Given the description of an element on the screen output the (x, y) to click on. 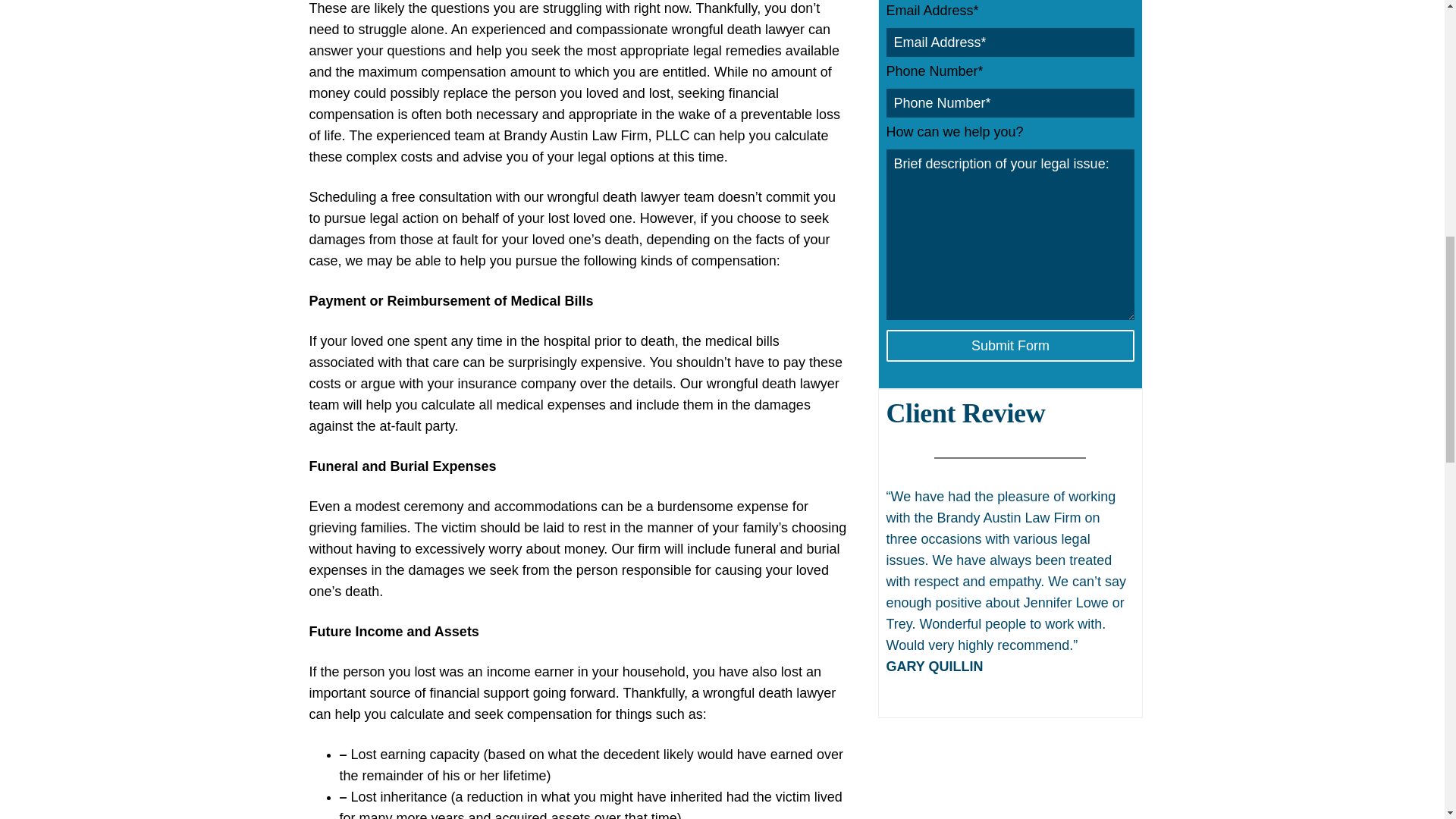
Submit Form (1009, 345)
